Given the description of an element on the screen output the (x, y) to click on. 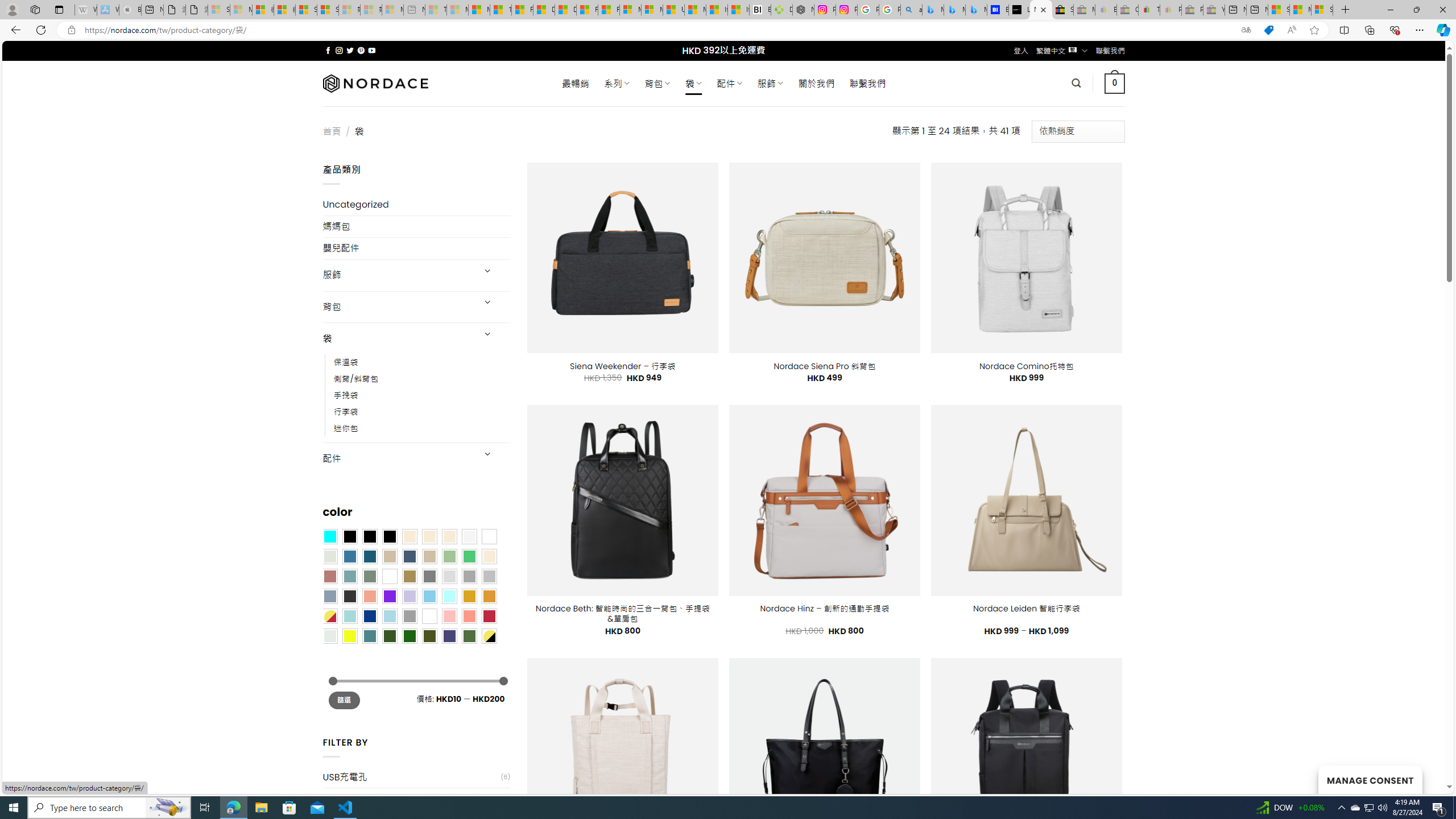
MANAGE CONSENT (1369, 779)
Foo BAR | Trusted Community Engagement and Contributions (608, 9)
Top Stories - MSN - Sleeping (435, 9)
US Heat Deaths Soared To Record High Last Year (673, 9)
